Given the description of an element on the screen output the (x, y) to click on. 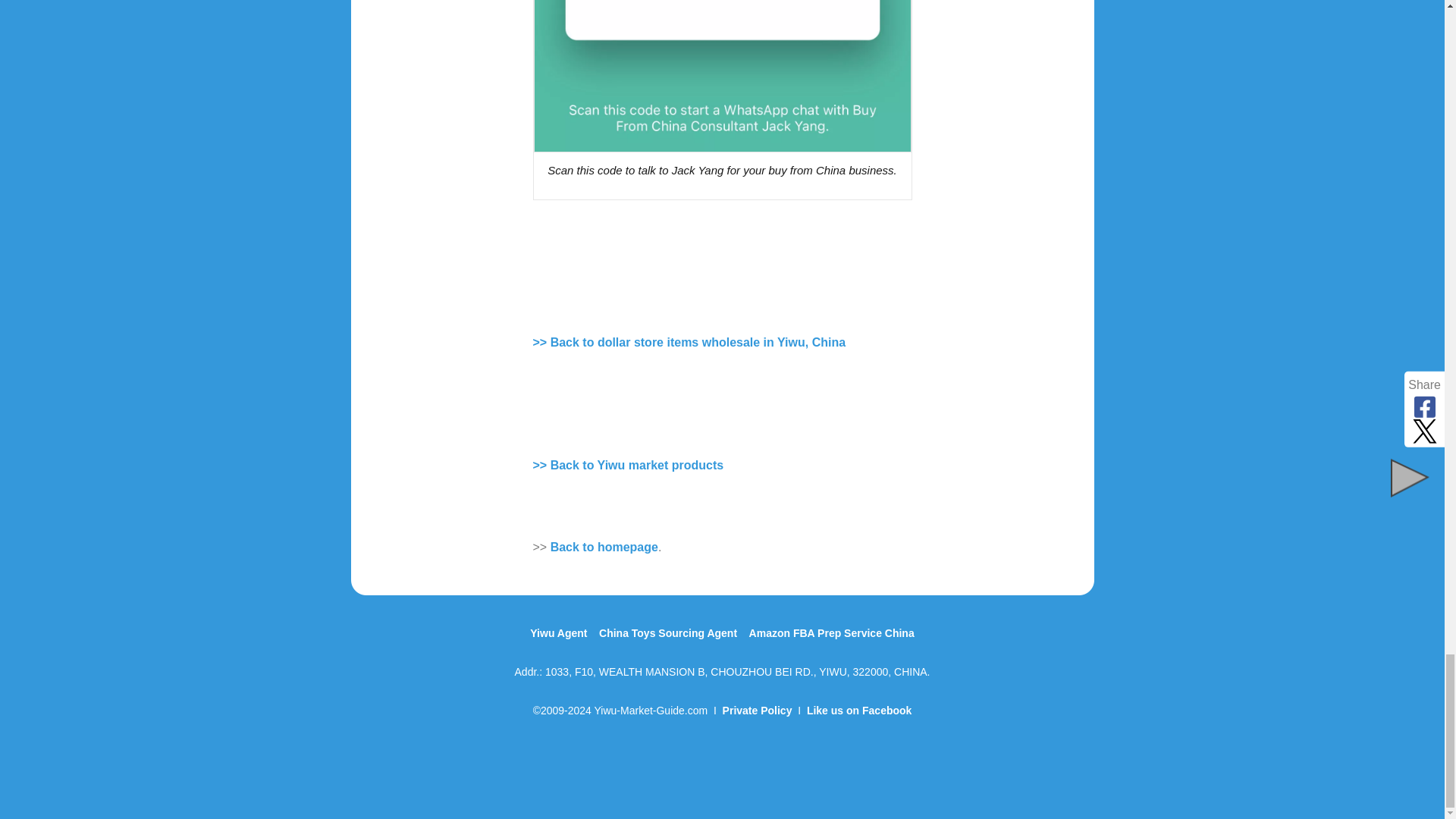
Back to homepage (604, 546)
